Given the description of an element on the screen output the (x, y) to click on. 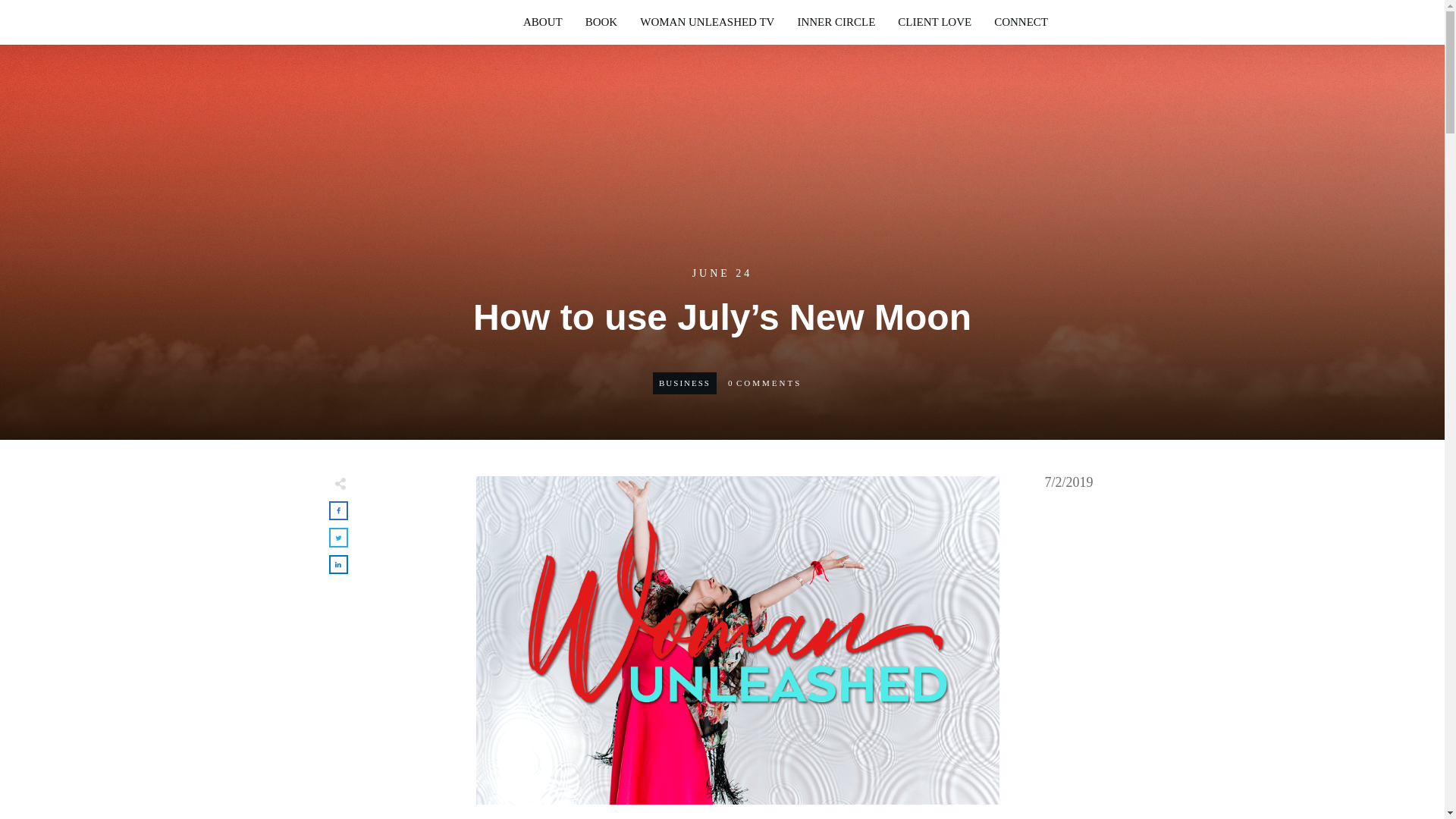
Business (684, 382)
CONNECT (1021, 21)
BOOK (601, 21)
CLIENT LOVE (934, 21)
WOMAN UNLEASHED TV (707, 21)
ABOUT (542, 21)
INNER CIRCLE (835, 21)
BUSINESS (684, 382)
